Given the description of an element on the screen output the (x, y) to click on. 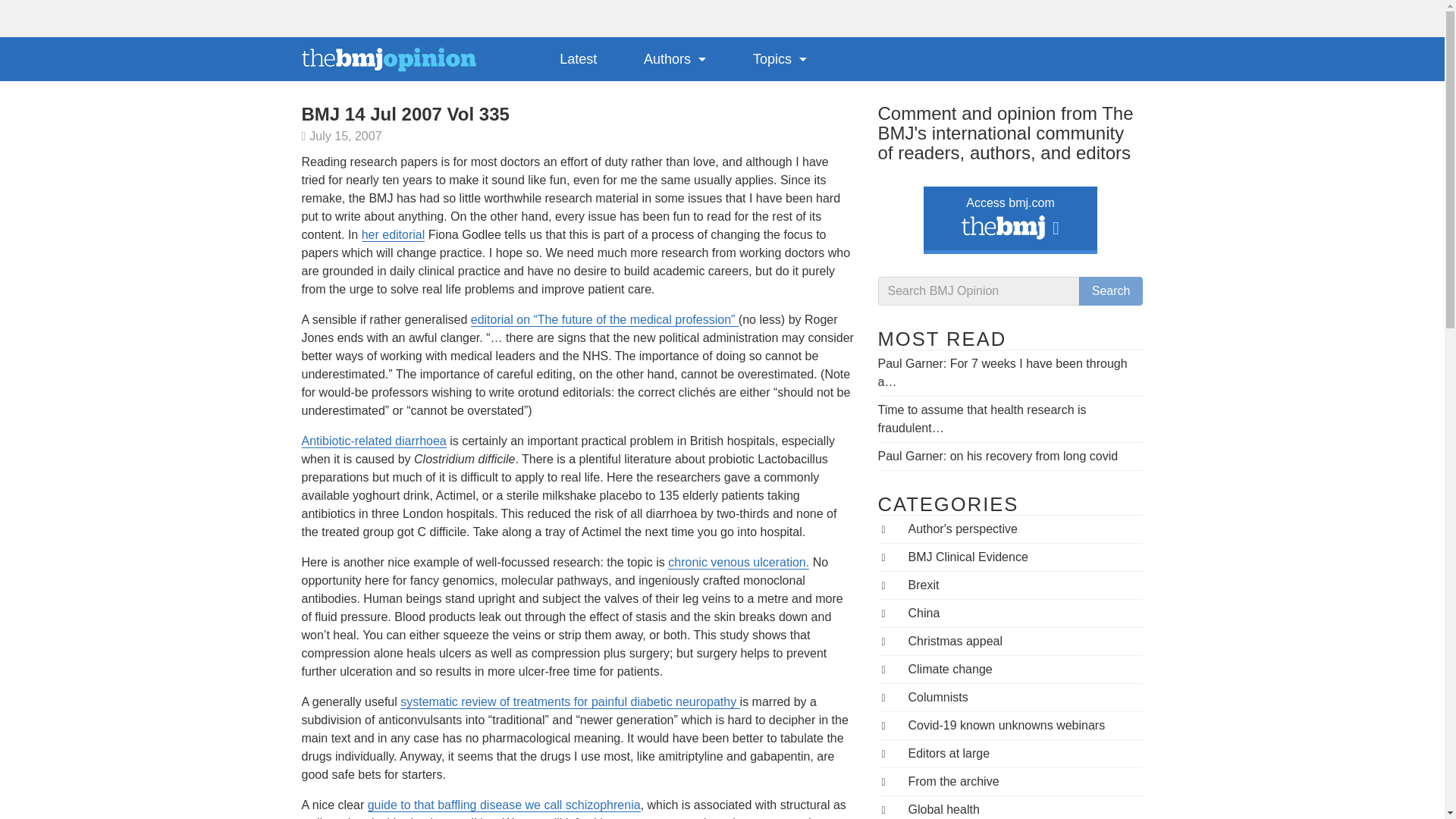
Search (1110, 290)
The BMJ (1002, 231)
China (924, 612)
Access bmj.com (1009, 216)
Paul Garner: on his recovery from long covid (997, 455)
Topics (780, 58)
Search (1110, 290)
Climate change (950, 668)
Columnists (938, 697)
